Given the description of an element on the screen output the (x, y) to click on. 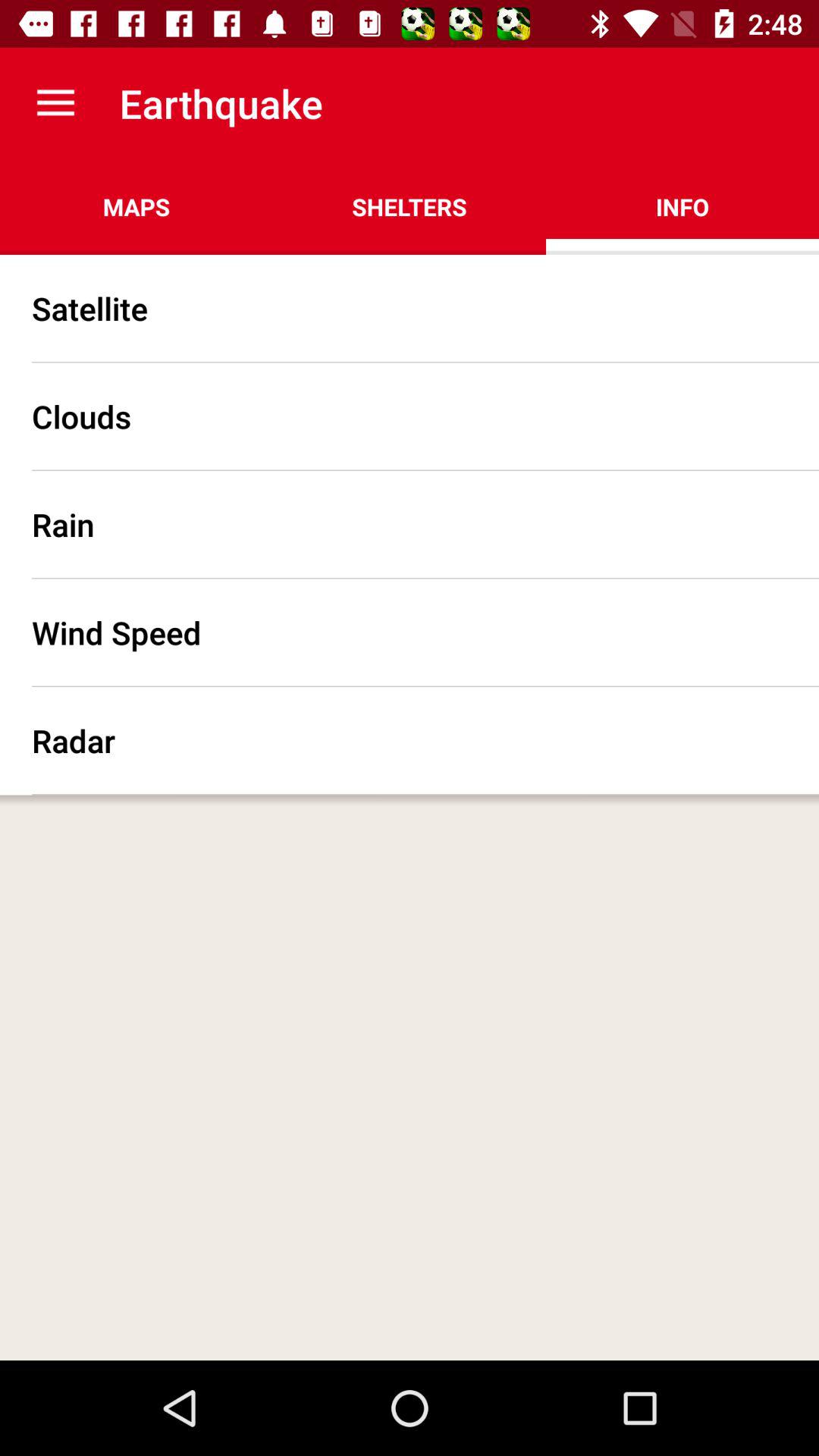
click the info at the top right corner (682, 206)
